Given the description of an element on the screen output the (x, y) to click on. 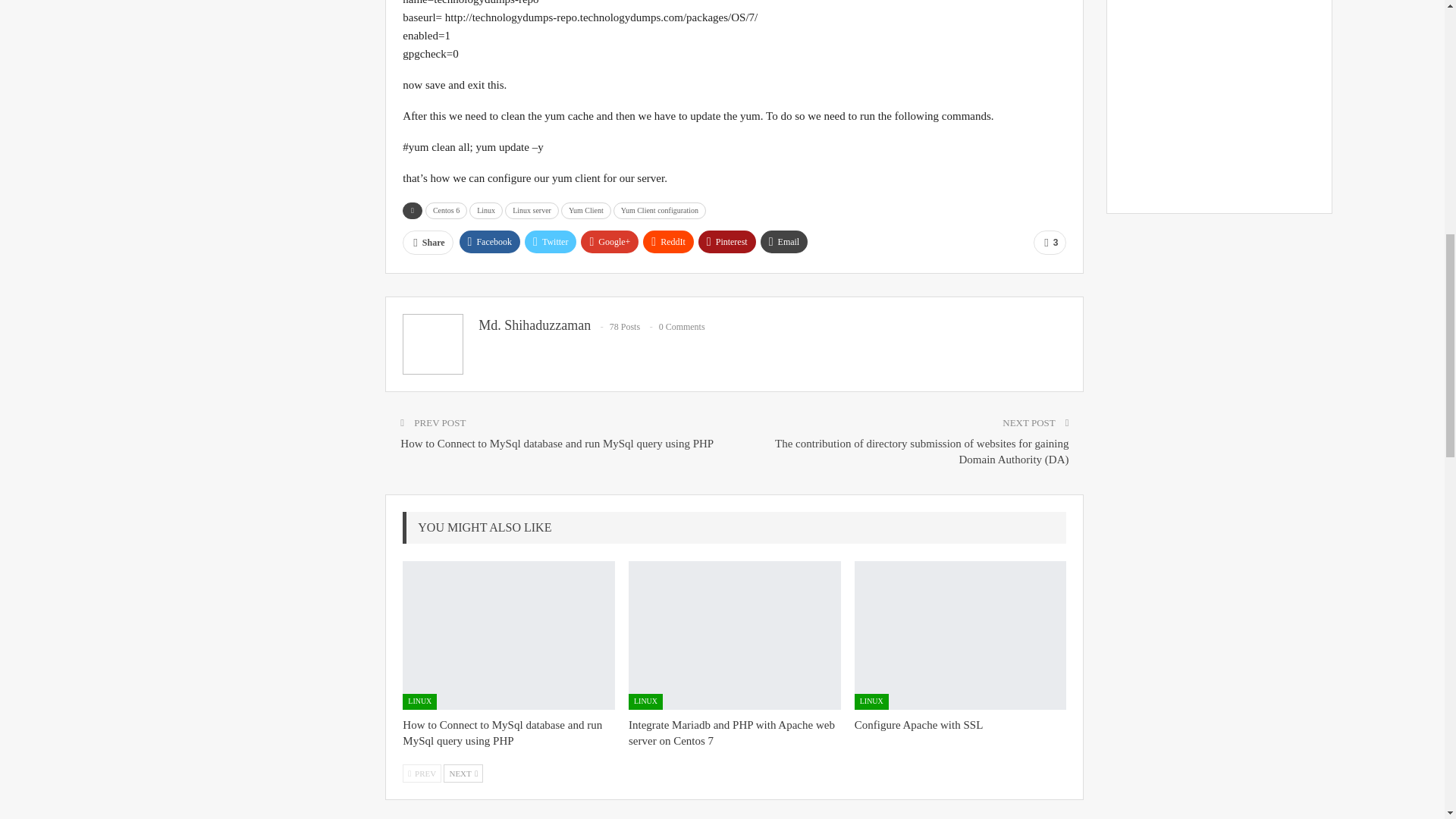
Integrate Mariadb and PHP with Apache web server on Centos 7 (734, 635)
Integrate Mariadb and PHP with Apache web server on Centos 7 (731, 732)
Centos 6 (446, 210)
Configure Apache with SSL (919, 725)
Configure Apache with SSL (960, 635)
